Given the description of an element on the screen output the (x, y) to click on. 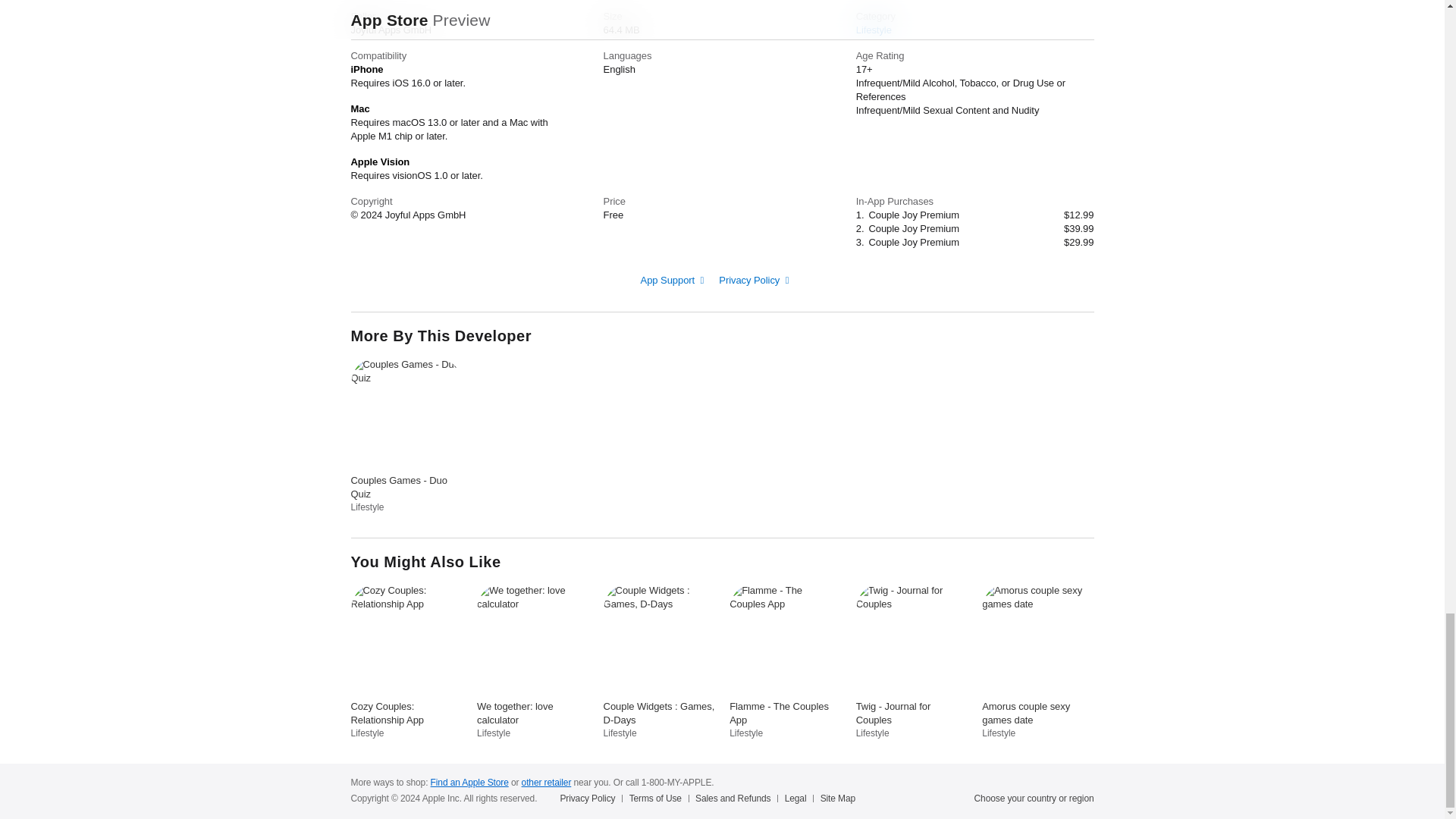
App Support (672, 279)
Find an Apple Store (469, 782)
Privacy Policy (754, 279)
Lifestyle (873, 30)
Sales and Refunds (736, 798)
Privacy Policy (590, 798)
other retailer (546, 782)
Terms of Use (658, 798)
Choose your country or region (1034, 798)
Choose your country or region (1034, 798)
